Given the description of an element on the screen output the (x, y) to click on. 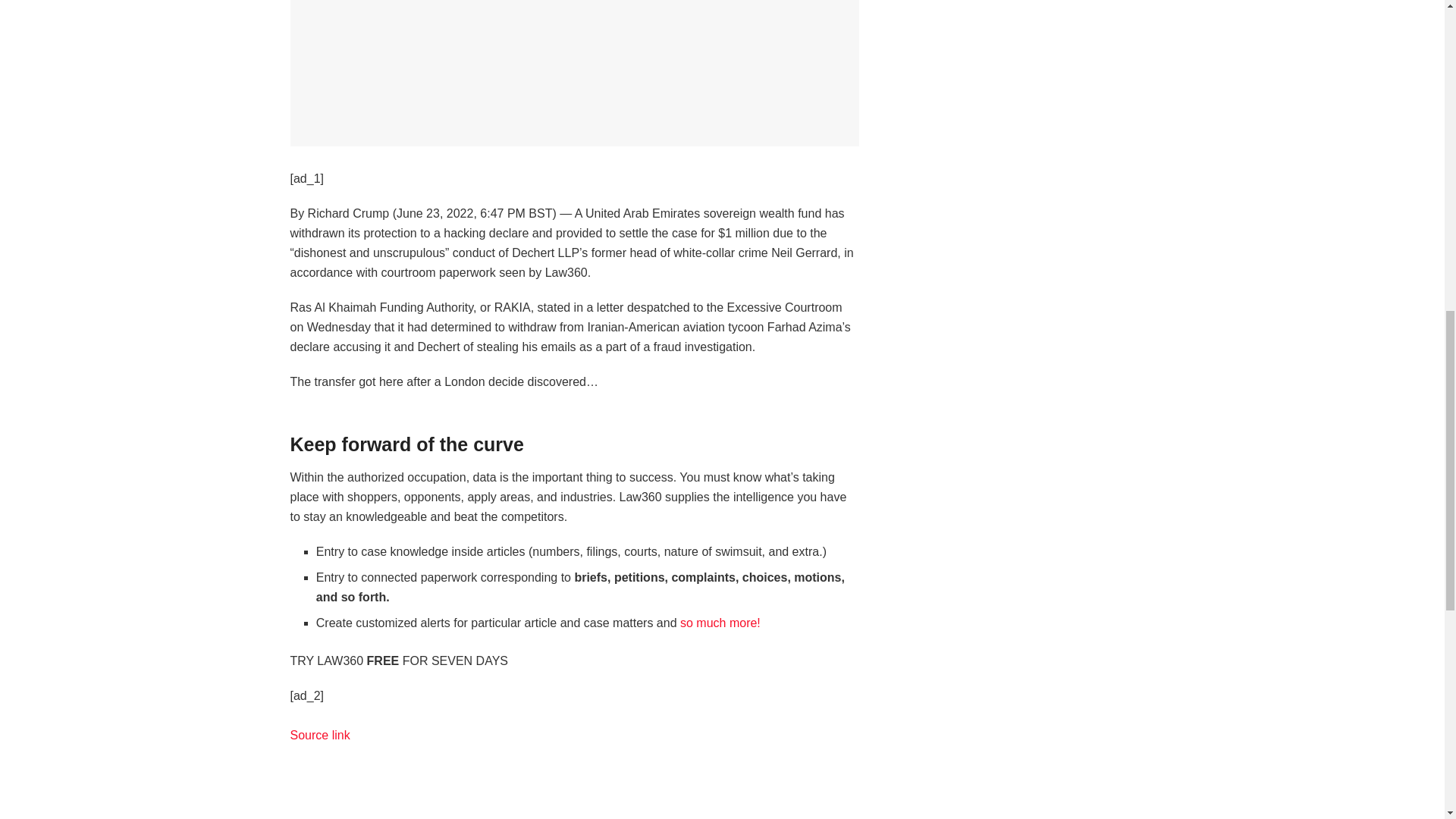
Source link (319, 735)
so much more! (719, 622)
About Law360 (719, 622)
